Given the description of an element on the screen output the (x, y) to click on. 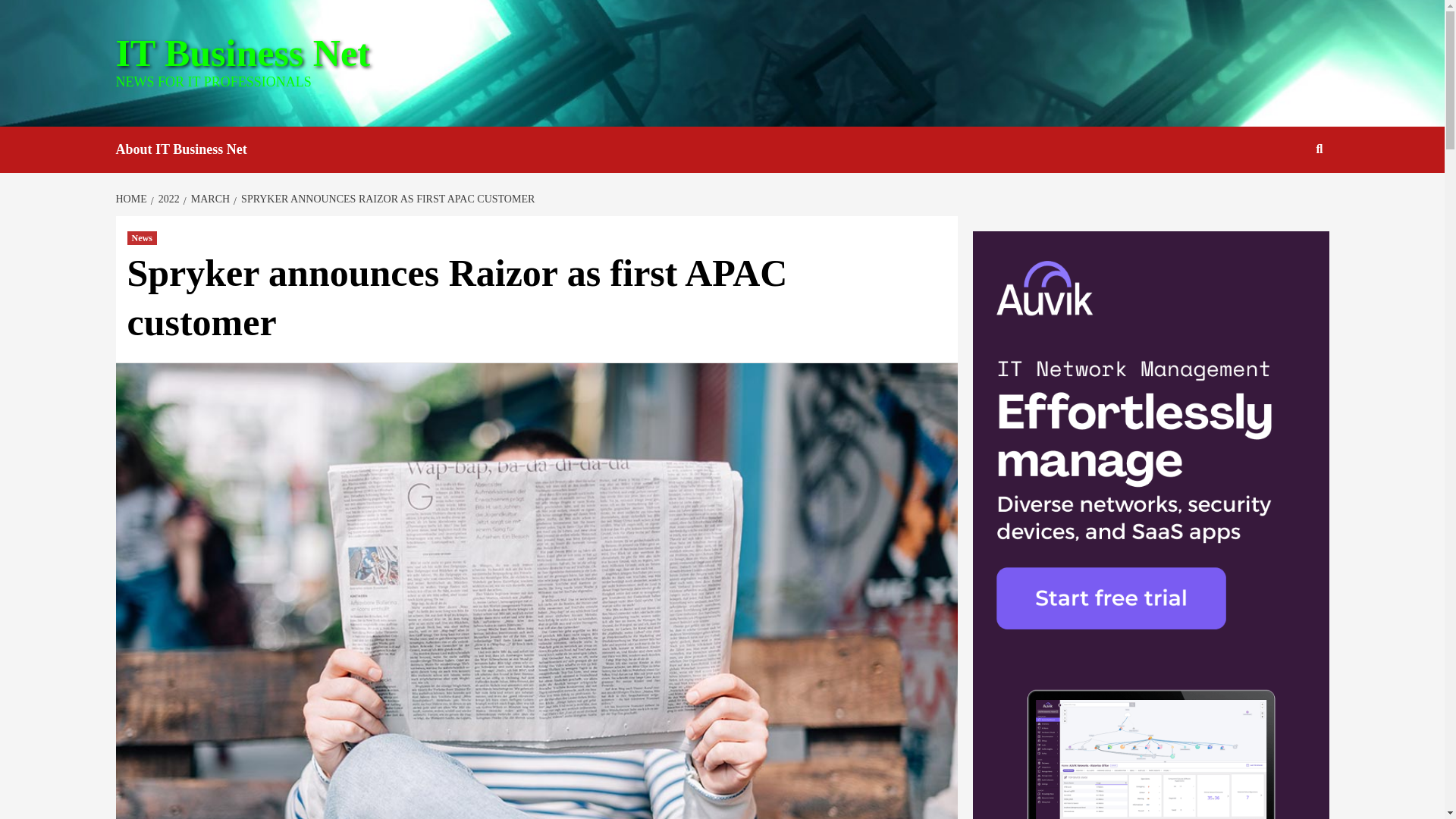
SPRYKER ANNOUNCES RAIZOR AS FIRST APAC CUSTOMER (385, 198)
HOME (132, 198)
Search (1319, 149)
News (142, 237)
IT Business Net (242, 52)
MARCH (207, 198)
2022 (167, 198)
Search (1283, 197)
About IT Business Net (192, 149)
